Given the description of an element on the screen output the (x, y) to click on. 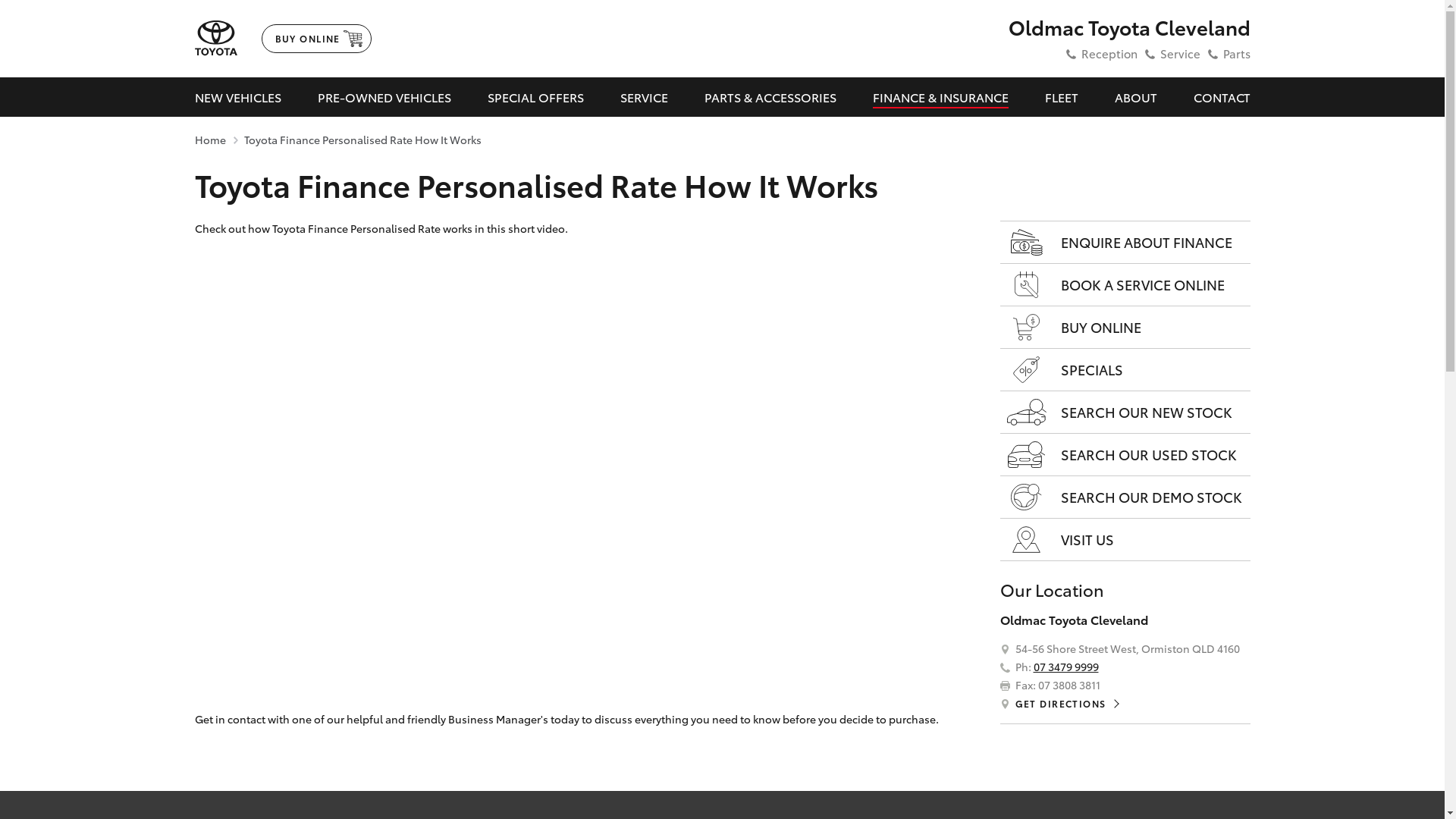
VISIT US Element type: text (1124, 539)
BOOK A SERVICE ONLINE Element type: text (1124, 284)
Toyota Finance Personalised Rate How It Works Element type: text (362, 139)
Home Element type: text (209, 139)
Reception Element type: text (1109, 52)
SEARCH OUR USED STOCK Element type: text (1124, 454)
ABOUT Element type: text (1135, 96)
GET DIRECTIONS Element type: text (1065, 703)
PRE-OWNED VEHICLES Element type: text (383, 96)
FINANCE & INSURANCE Element type: text (939, 96)
Oldmac Toyota Cleveland Element type: text (1129, 26)
07 3479 9999 Element type: text (1065, 666)
SPECIALS Element type: text (1124, 369)
SERVICE Element type: text (644, 96)
SPECIAL OFFERS Element type: text (534, 96)
FLEET Element type: text (1061, 96)
SEARCH OUR NEW STOCK Element type: text (1124, 412)
ENQUIRE ABOUT FINANCE Element type: text (1124, 242)
Service Element type: text (1180, 52)
CONTACT Element type: text (1221, 96)
SEARCH OUR DEMO STOCK Element type: text (1124, 497)
BUY ONLINE Element type: text (315, 38)
BUY ONLINE Element type: text (1124, 327)
Parts Element type: text (1235, 52)
PARTS & ACCESSORIES Element type: text (769, 96)
NEW VEHICLES Element type: text (237, 96)
